Given the description of an element on the screen output the (x, y) to click on. 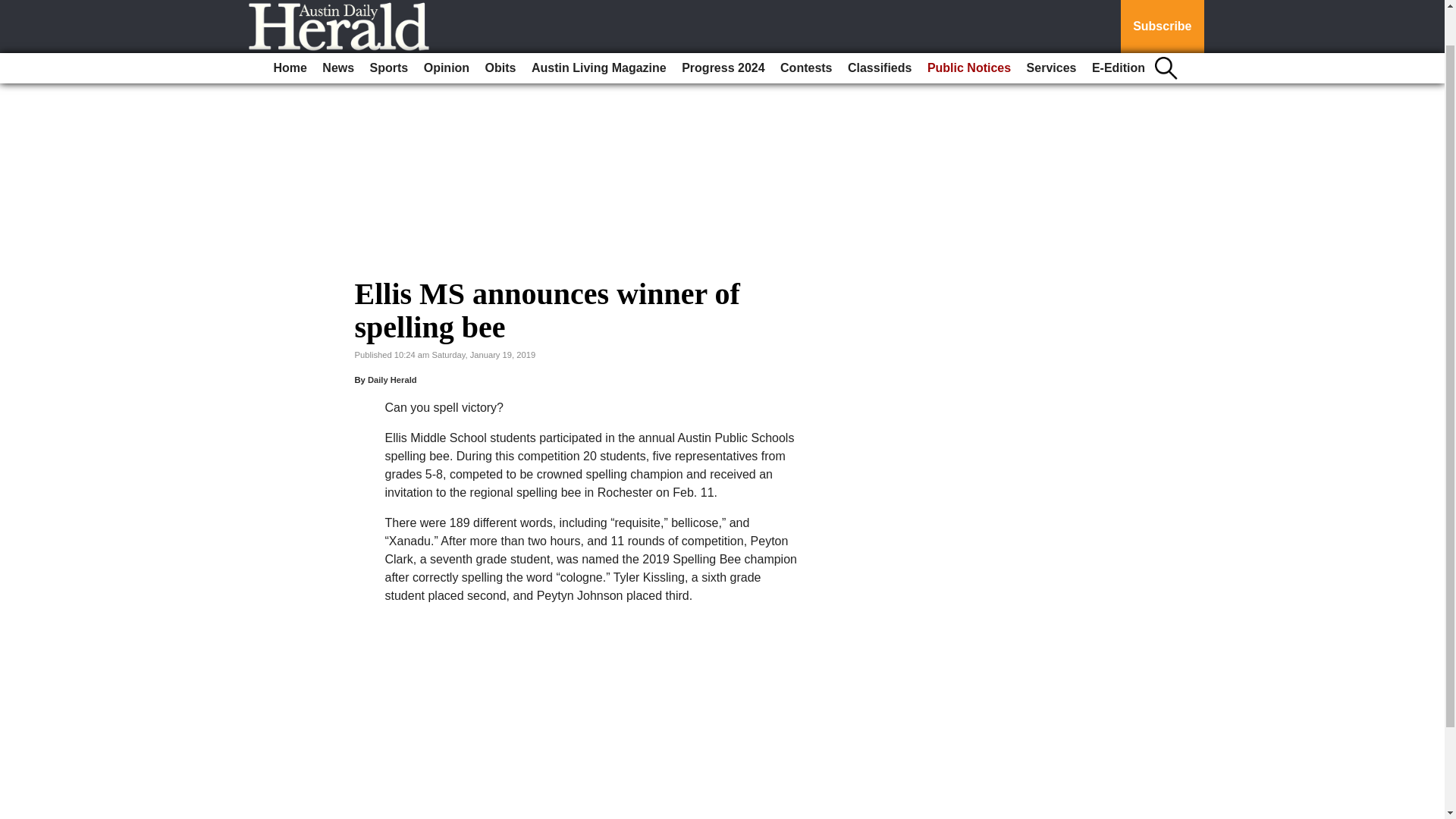
Obits (500, 26)
Services (1051, 26)
Progress 2024 (722, 26)
Classifieds (879, 26)
Sports (389, 26)
Subscribe (1162, 5)
News (337, 26)
Austin Living Magazine (598, 26)
Opinion (446, 26)
Public Notices (968, 26)
